Given the description of an element on the screen output the (x, y) to click on. 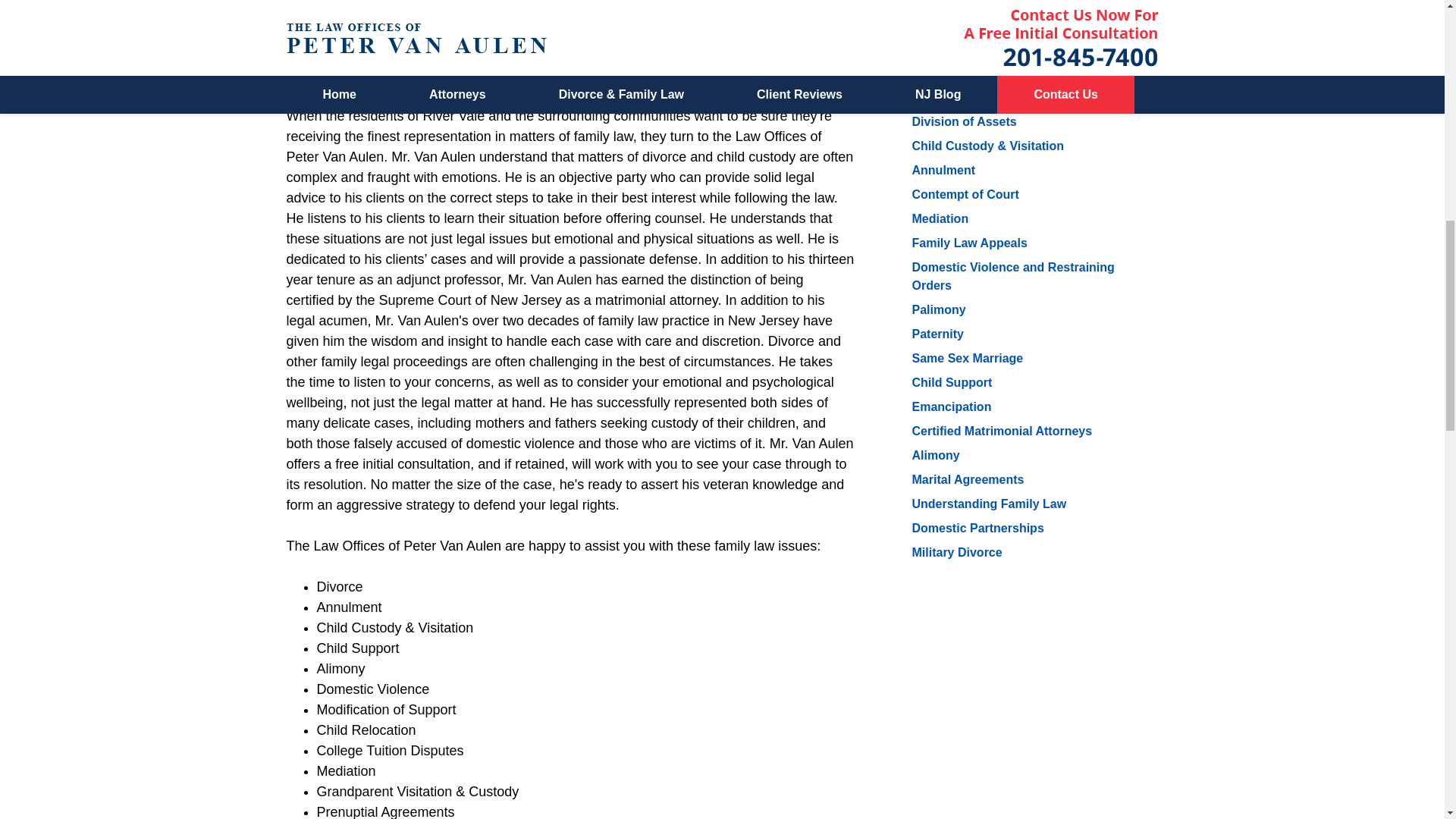
CONTACT US NOW (1024, 2)
Child Support (951, 382)
Contempt of Court (964, 194)
Certified Matrimonial Attorneys (1001, 431)
Same Sex Marriage (967, 358)
Palimony (938, 309)
Military Divorce (956, 552)
Marital Agreements (967, 479)
Understanding the Steps of a Divorce in New Jersey (1018, 88)
Division of Assets (963, 121)
Alimony (935, 454)
Practice Areas (960, 49)
Domestic Partnerships (977, 527)
Emancipation (951, 406)
Annulment (943, 169)
